Given the description of an element on the screen output the (x, y) to click on. 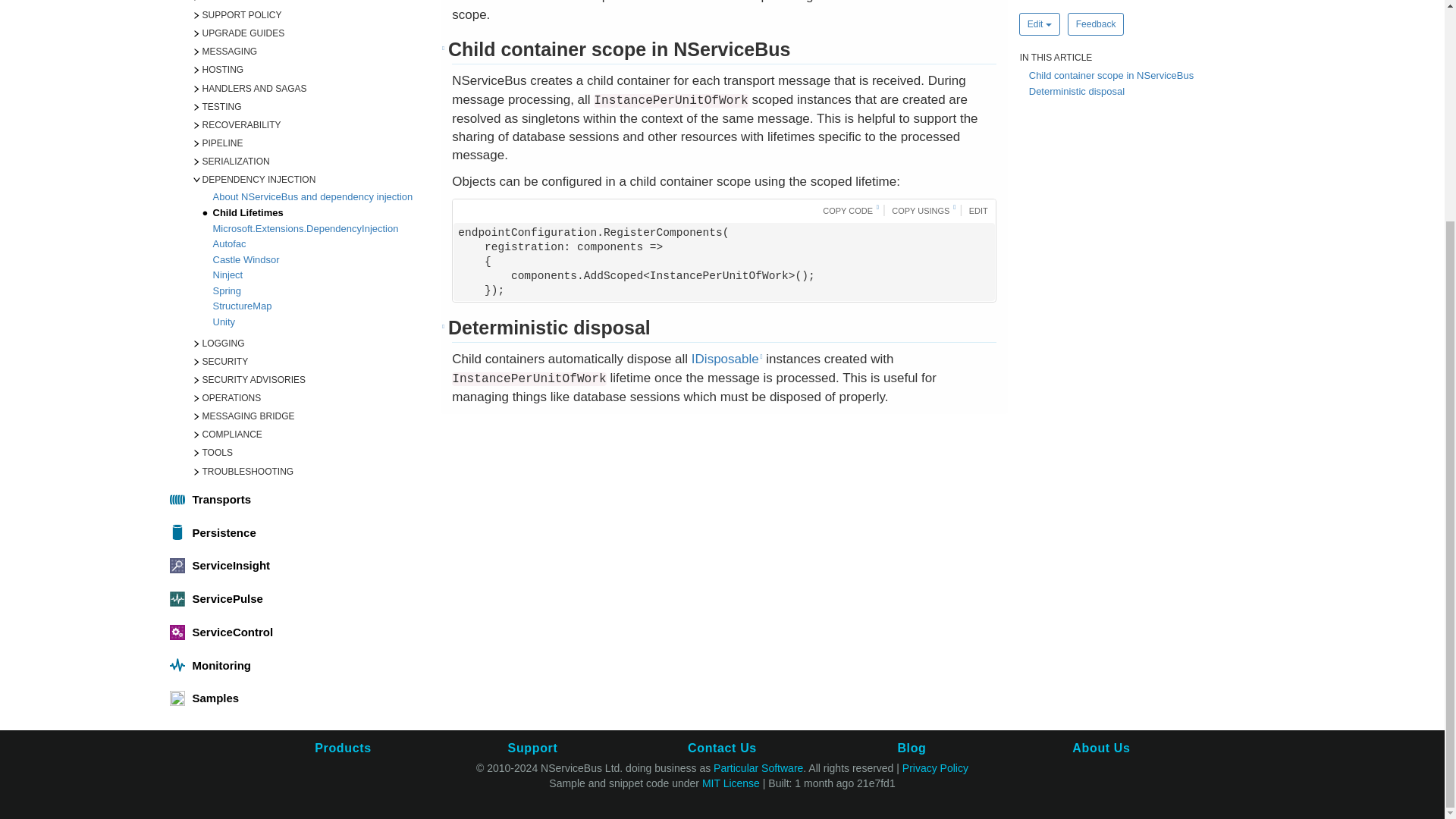
Spring (319, 292)
About NServiceBus and dependency injection (319, 198)
Copy snippet to the clipboard (847, 209)
Autofac (319, 245)
Unity (319, 323)
StructureMap (319, 307)
Edit online via the GitHub web UI (976, 209)
Child Lifetimes (319, 213)
Castle Windsor (319, 261)
Microsoft.Extensions.DependencyInjection (319, 229)
